Given the description of an element on the screen output the (x, y) to click on. 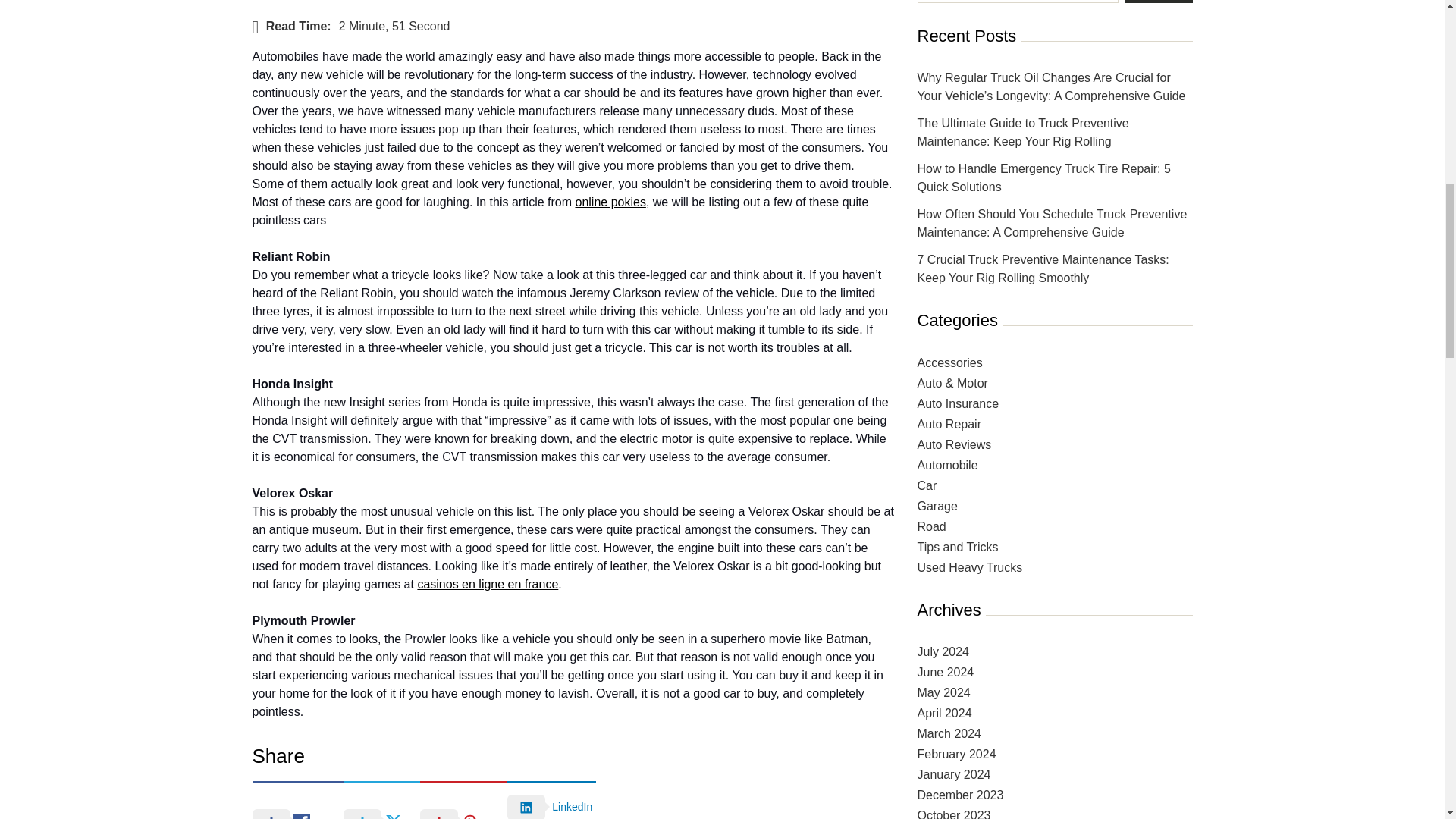
Facebook (297, 794)
Pinterest (463, 794)
online pokies (610, 189)
LinkedIn (550, 794)
casinos en ligne en france (486, 571)
Twitter (381, 794)
